Given the description of an element on the screen output the (x, y) to click on. 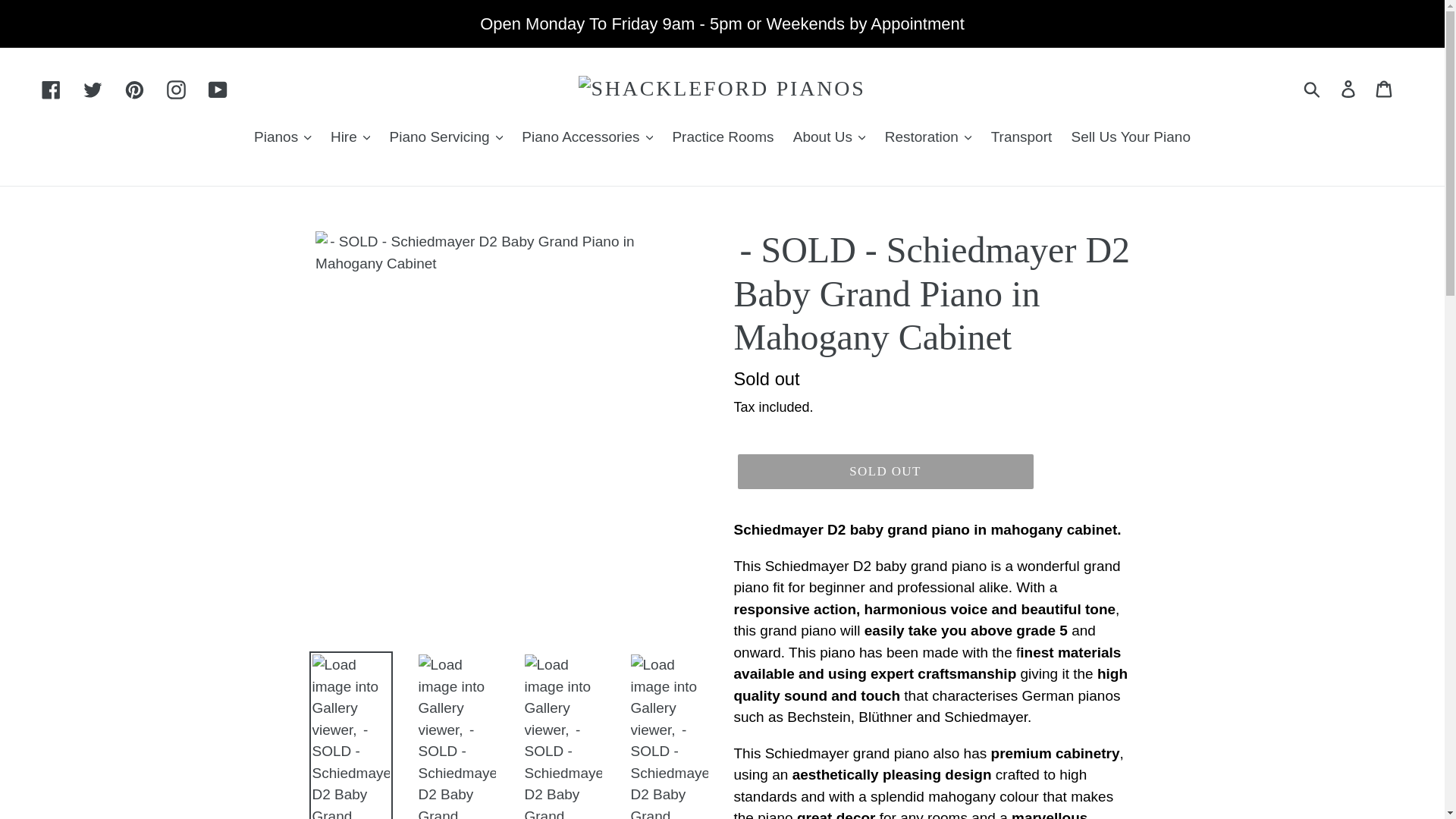
Cart (1385, 88)
Log in (1349, 88)
Submit (1313, 89)
